Given the description of an element on the screen output the (x, y) to click on. 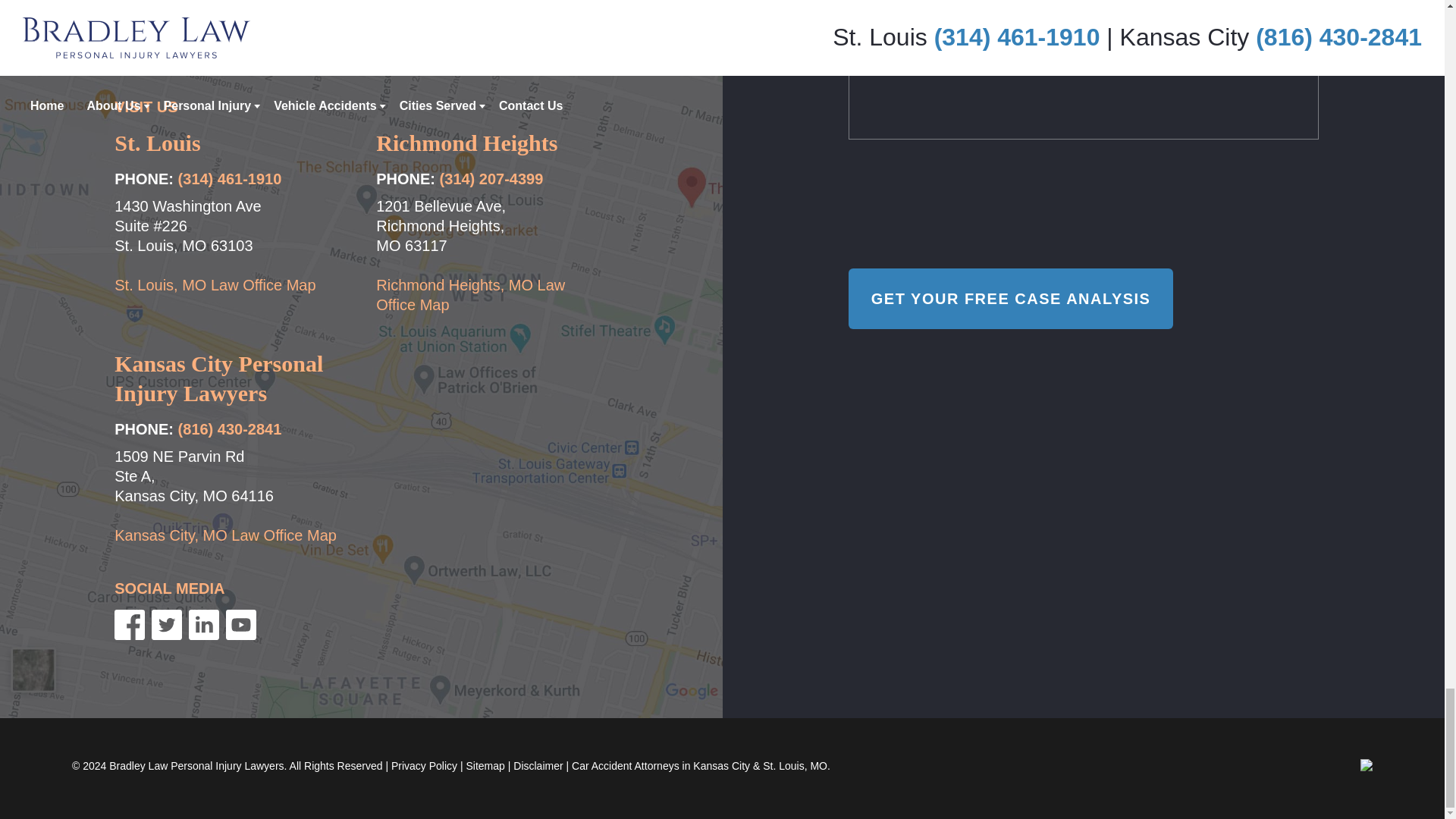
Get Your Free Case Analysis (1010, 298)
